Given the description of an element on the screen output the (x, y) to click on. 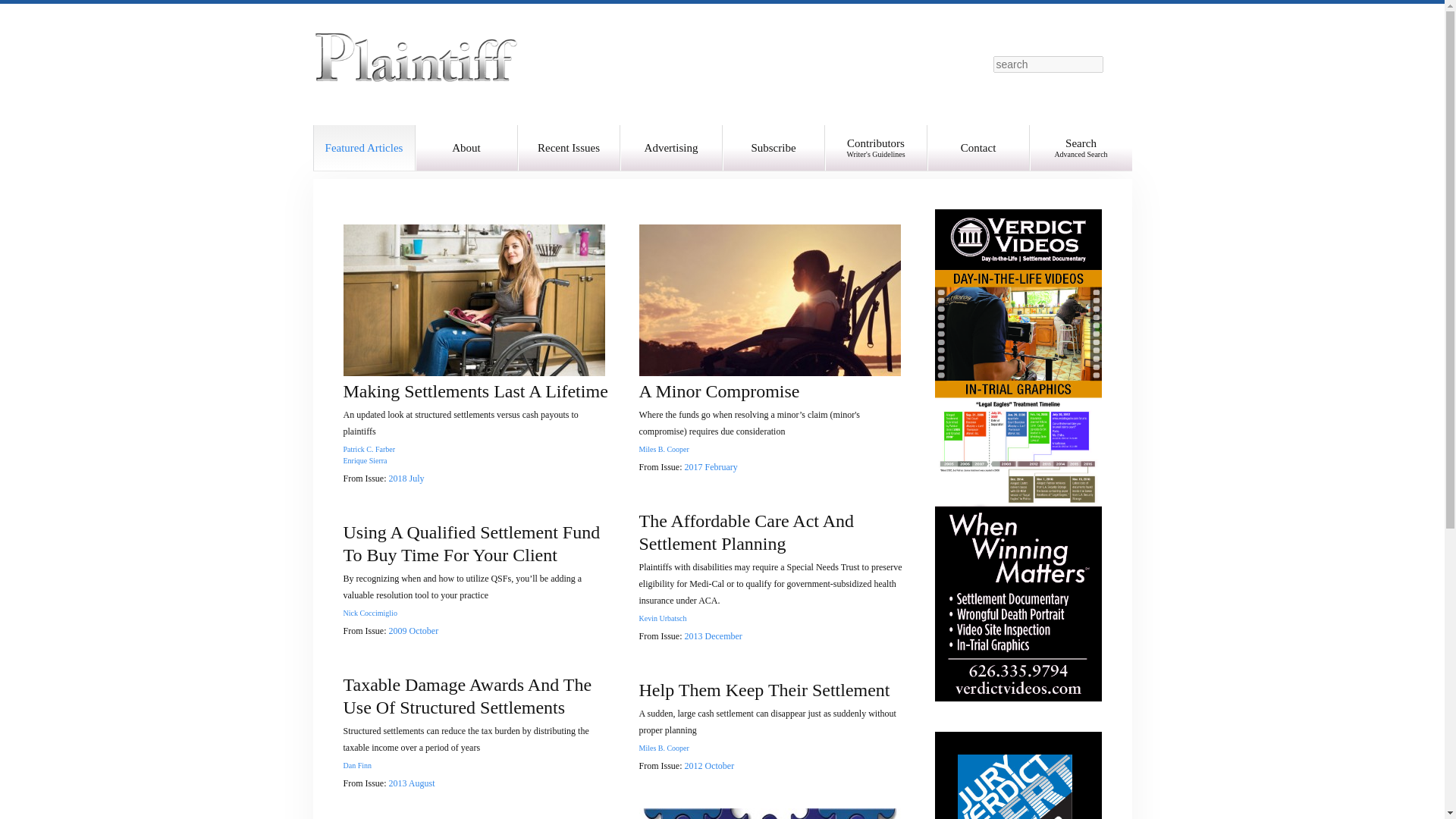
Contact (977, 147)
2012 October (708, 765)
About (466, 147)
2009 October (413, 630)
Recent Issues (568, 147)
Making settlements last a lifetime (473, 299)
The Affordable Care Act And Settlement Planning (746, 532)
Making Settlements Last A Lifetime (474, 391)
Making settlements last a lifetime (474, 391)
Help Them Keep Their Settlement (764, 690)
2013 August (410, 783)
Dan Finn (356, 765)
Taxable damage awards and the use of structured settlements  (876, 147)
